Given the description of an element on the screen output the (x, y) to click on. 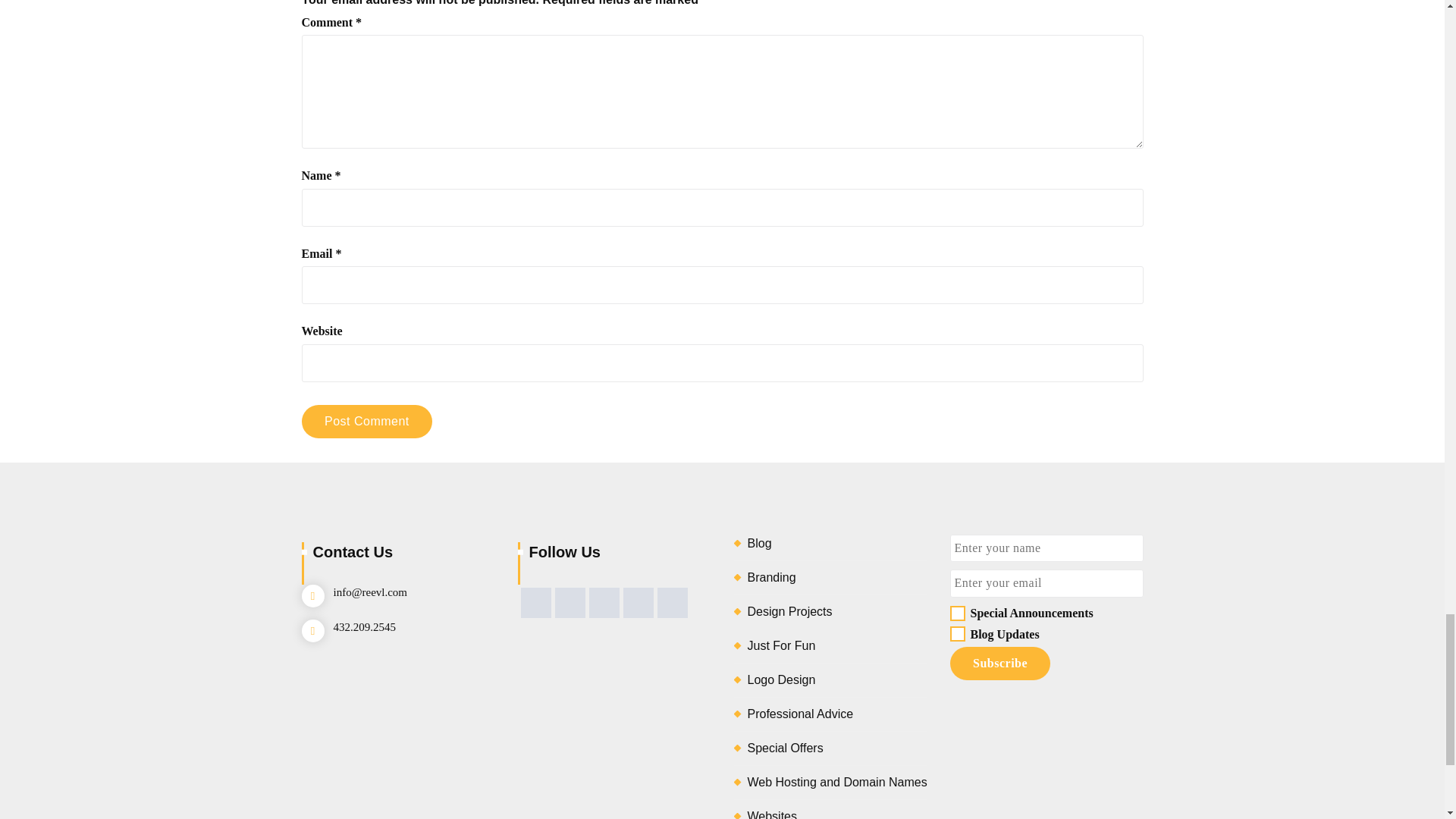
Subscribe (999, 663)
f0509ba12127 (956, 633)
c6b1229c27a7 (956, 613)
Post Comment (366, 421)
